Given the description of an element on the screen output the (x, y) to click on. 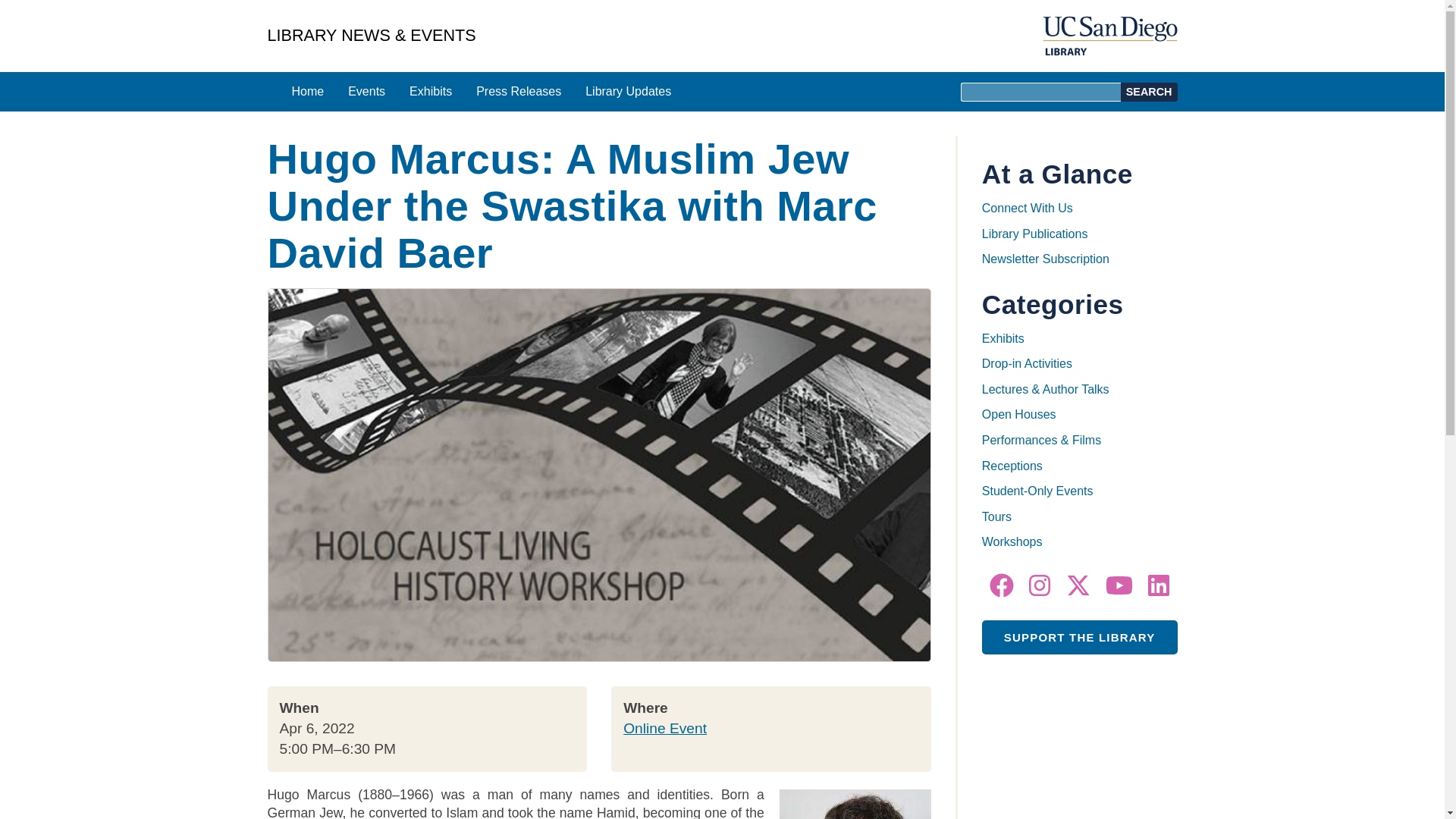
Library Updates (627, 91)
Home (307, 91)
SEARCH (1149, 91)
Exhibits (1003, 338)
Connect With Us (1027, 207)
Receptions (1011, 465)
Events (366, 91)
Workshops (1011, 541)
Drop-in Activities (1026, 363)
YouTube (1118, 585)
